Given the description of an element on the screen output the (x, y) to click on. 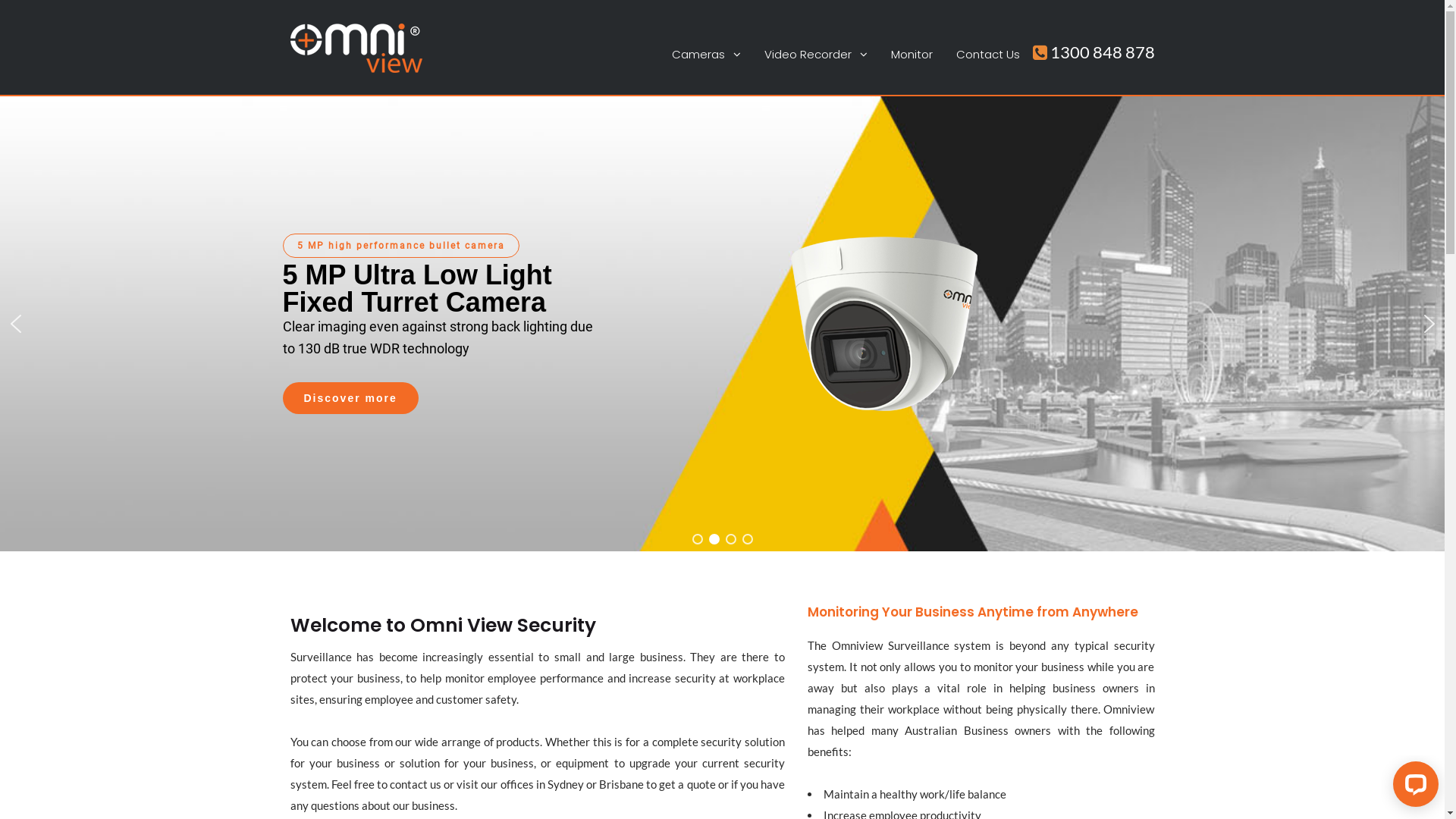
1300 848 878 Element type: text (1093, 51)
5 MP high performance bullet camera Element type: text (400, 245)
Cameras Element type: text (706, 54)
Video Recorder Element type: text (815, 54)
Contact Us Element type: text (986, 54)
Discover more Element type: text (349, 398)
Monitor Element type: text (910, 54)
